Given the description of an element on the screen output the (x, y) to click on. 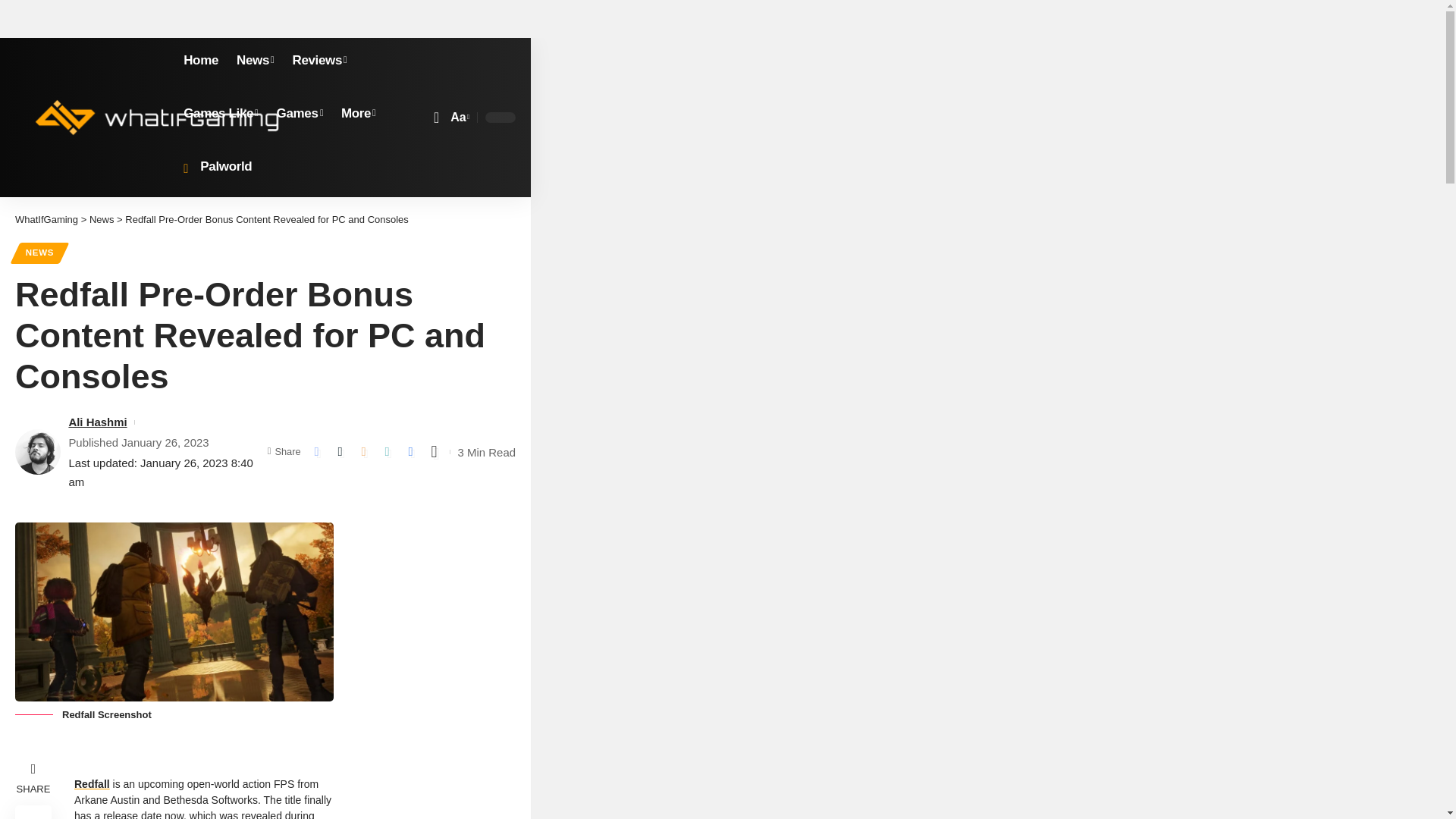
Reviews (318, 60)
News (254, 60)
Go to WhatIfGaming. (46, 219)
Games Like (220, 113)
Games (299, 113)
Go to the News Category archives. (101, 219)
WhatIfGaming (156, 117)
Home (200, 60)
